Given the description of an element on the screen output the (x, y) to click on. 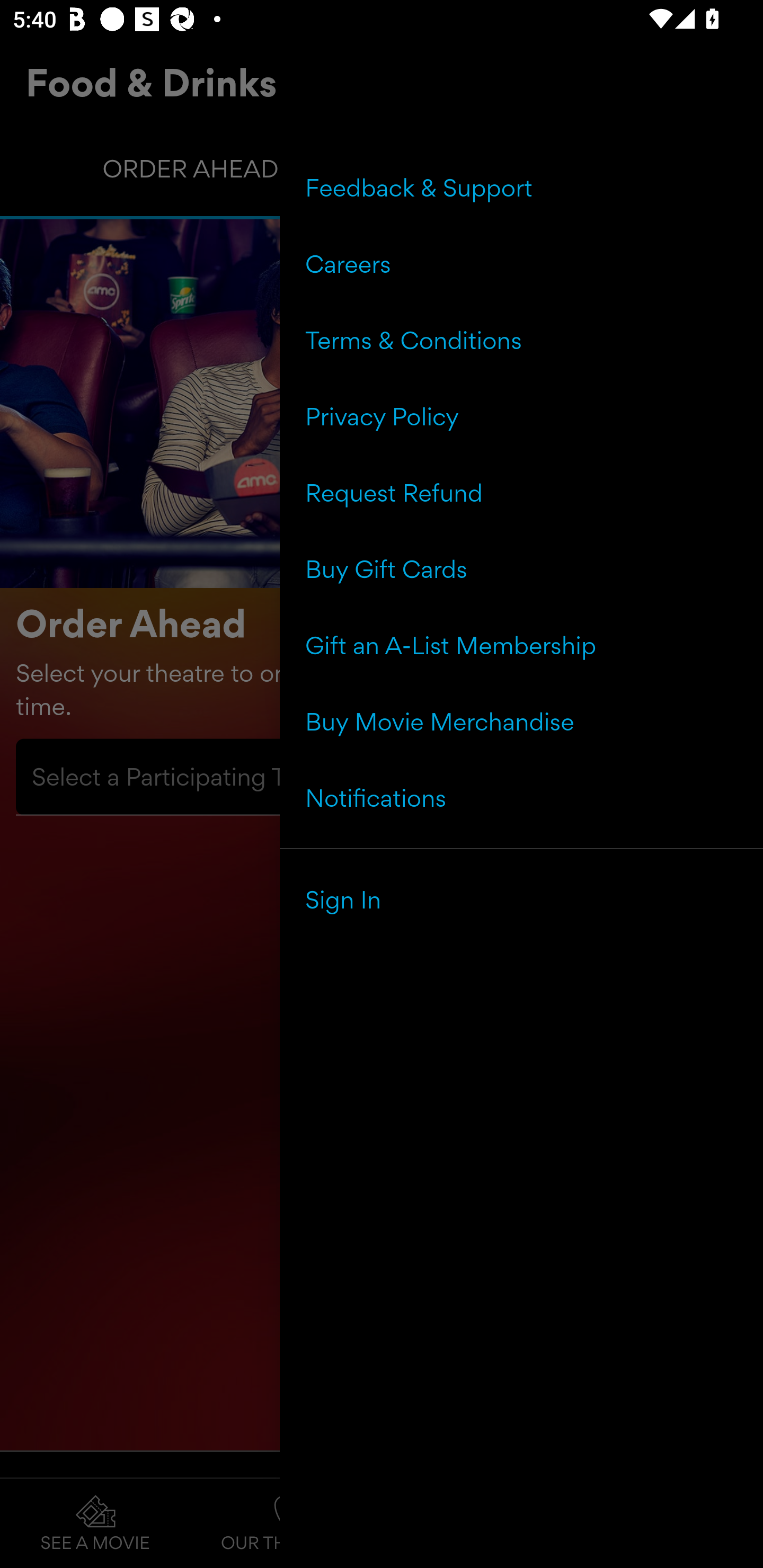
Feedback & Support (521, 186)
Careers (521, 263)
Terms & Conditions (521, 339)
Privacy Policy (521, 415)
Request Refund (521, 492)
Buy Gift Cards (521, 568)
Gift an A-List Membership (521, 644)
Buy Movie Merchandise (521, 720)
Notifications (521, 796)
Sign In (521, 898)
